Given the description of an element on the screen output the (x, y) to click on. 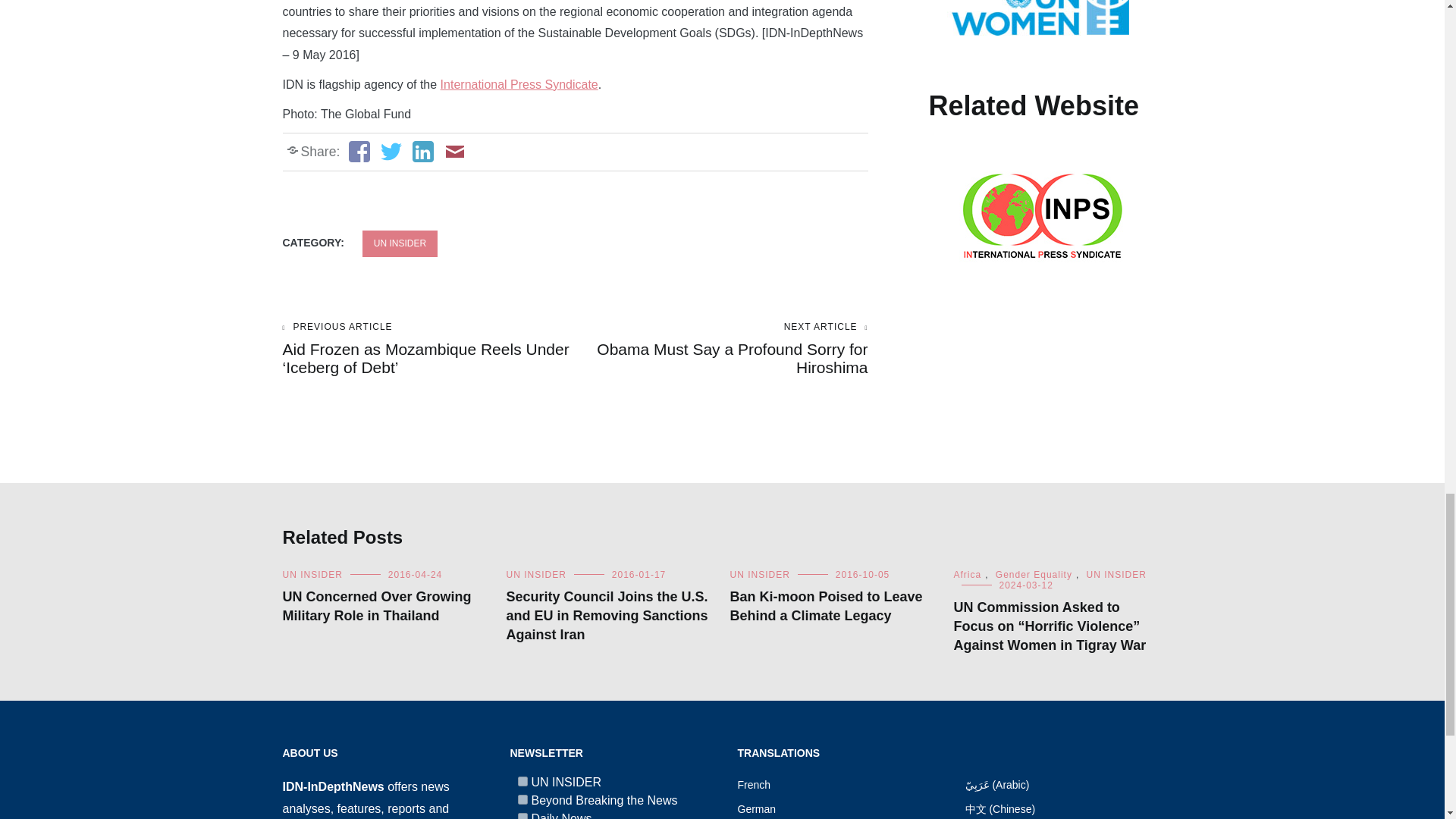
10 (521, 816)
7 (521, 781)
9 (521, 799)
